Given the description of an element on the screen output the (x, y) to click on. 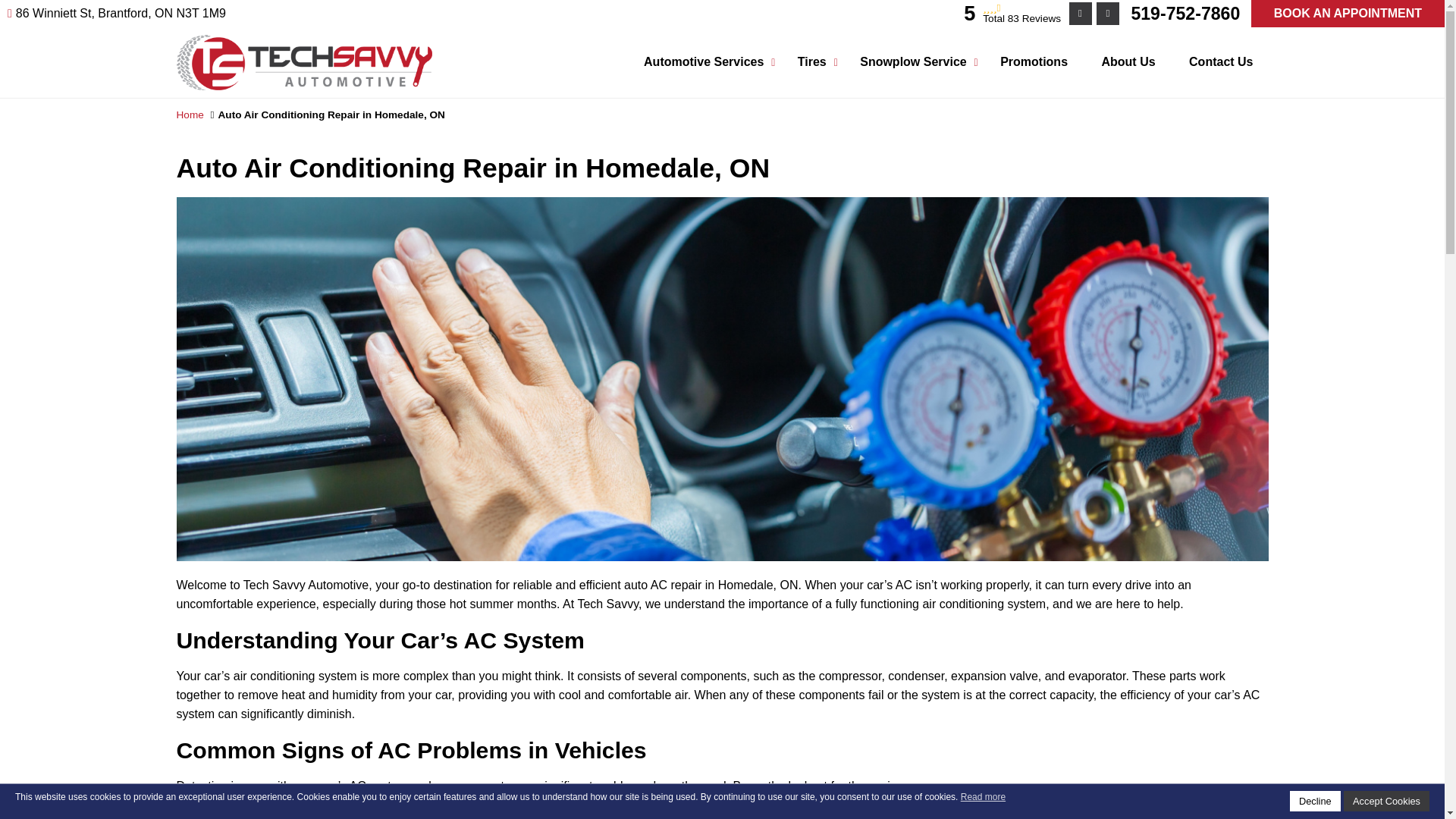
Go to Tech Savvy Automotive. (189, 114)
Decline (1315, 801)
BOOK AN APPOINTMENT (1347, 13)
Accept Cookies (1386, 801)
Tires (812, 62)
519-752-7860 (1185, 13)
Automotive Services (703, 62)
Tech Savvy Automotive (304, 42)
Read more (983, 796)
